Given the description of an element on the screen output the (x, y) to click on. 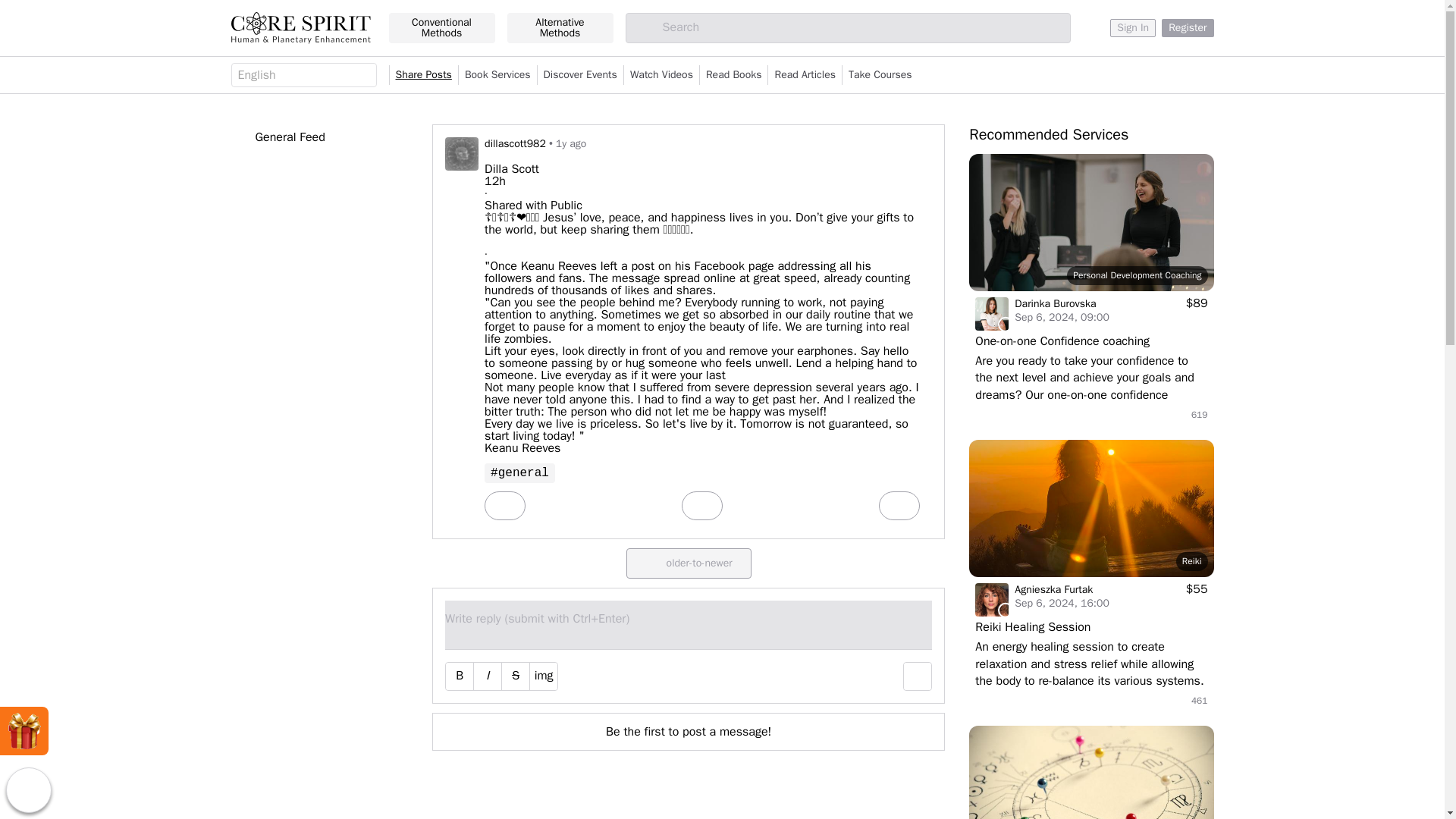
Alternative Methods (559, 28)
Register (1186, 27)
Book Services (497, 75)
Sign In (1132, 27)
Back to top (27, 790)
Share Posts (423, 75)
Conventional Methods (441, 28)
